Given the description of an element on the screen output the (x, y) to click on. 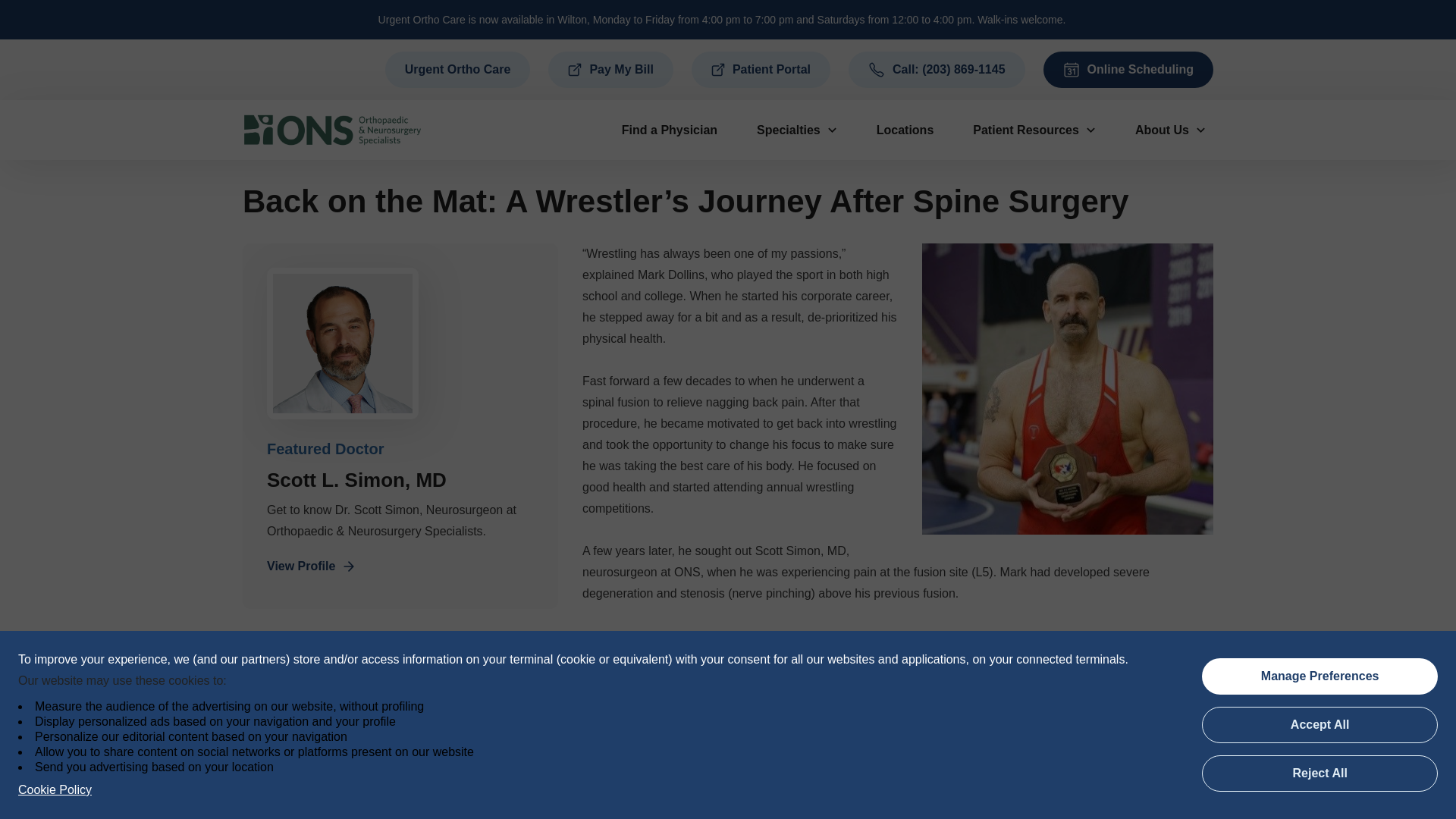
Reject All (1320, 773)
Specialties (796, 129)
Find a Physician (669, 129)
Pay My Bill (610, 69)
Patient Portal (760, 69)
Cookie Policy (54, 789)
Urgent Ortho Care (458, 69)
Online Scheduling (1127, 69)
Manage Preferences (1320, 676)
Find a Physician (669, 129)
Patient Resources (1034, 129)
Locations (905, 129)
Accept All (1320, 724)
Specialties (796, 129)
